Given the description of an element on the screen output the (x, y) to click on. 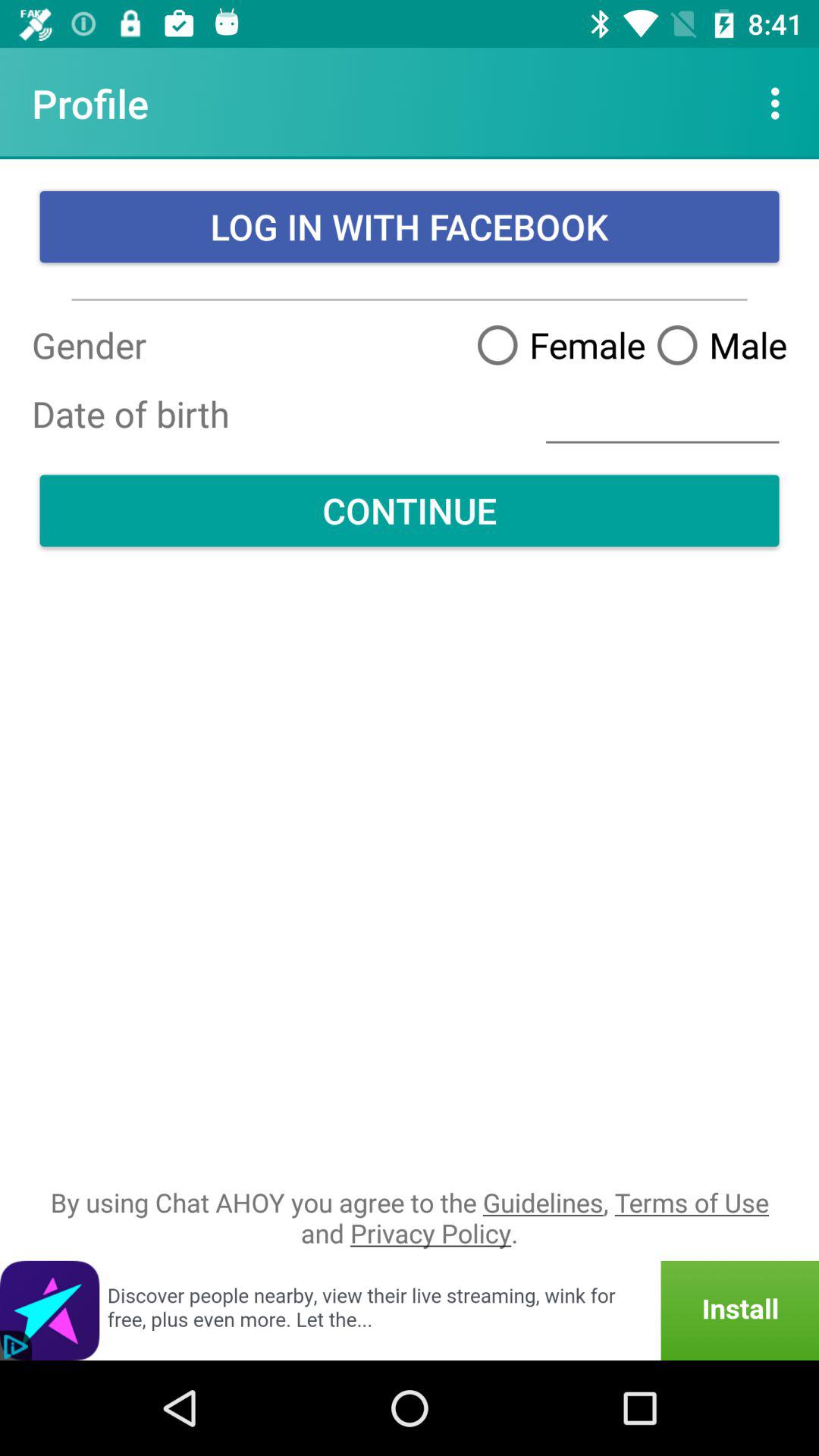
tap the item below female item (662, 413)
